Given the description of an element on the screen output the (x, y) to click on. 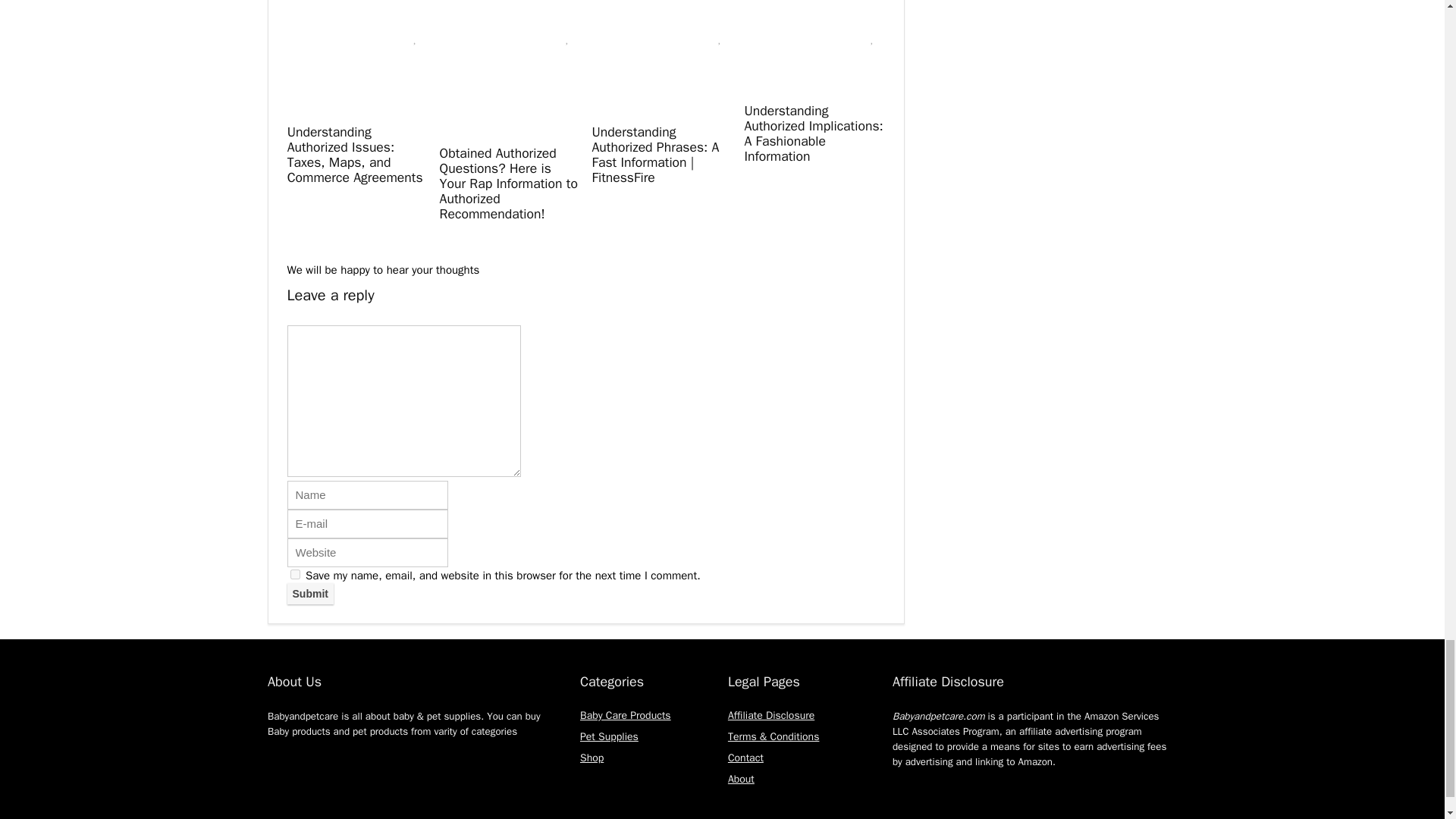
yes (294, 574)
Submit (309, 593)
